Given the description of an element on the screen output the (x, y) to click on. 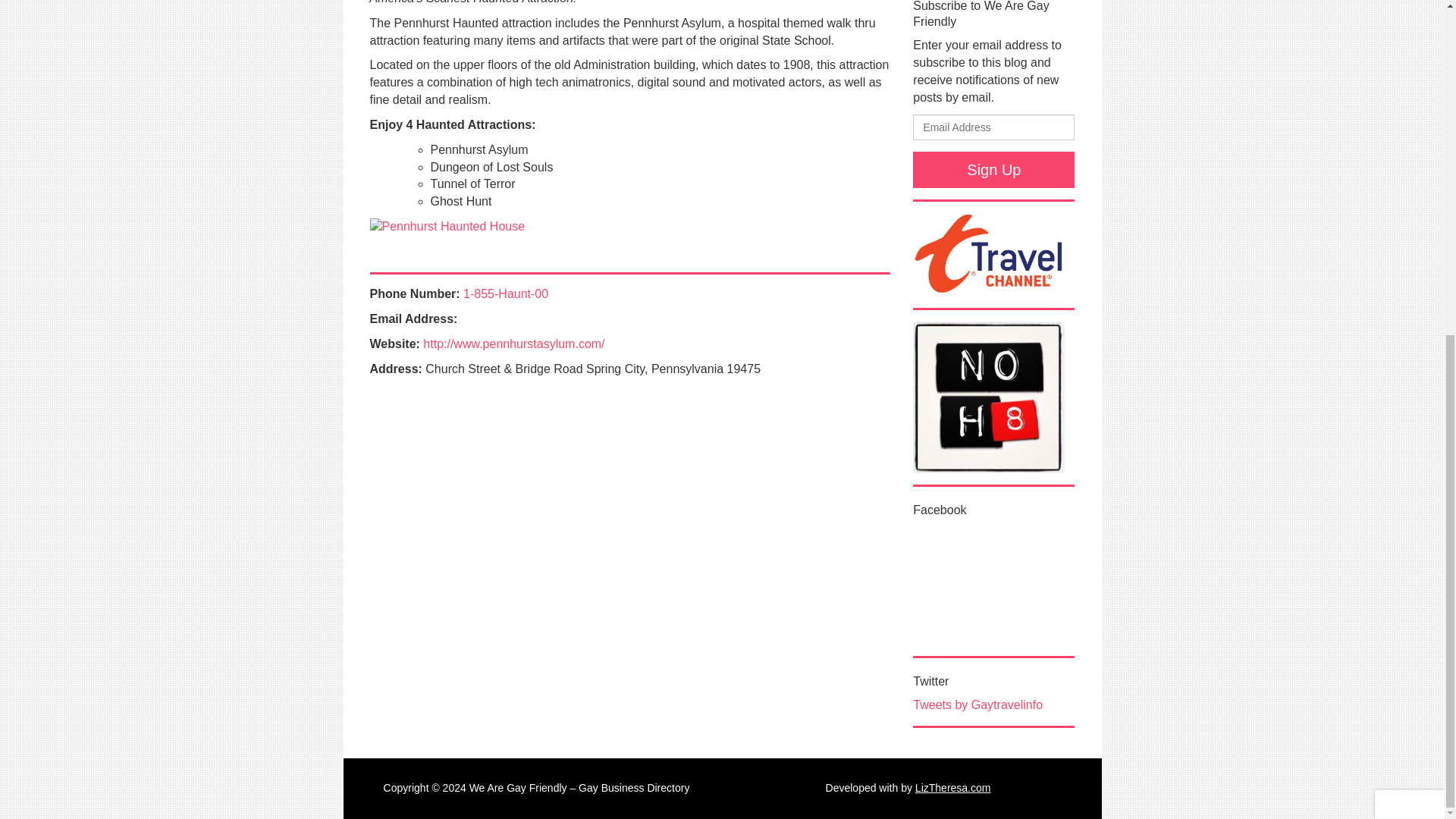
1-855-Haunt-00 (505, 293)
LizTheresa.com (953, 787)
Sign Up (993, 170)
Tweets by Gaytravelinfo (977, 704)
